Given the description of an element on the screen output the (x, y) to click on. 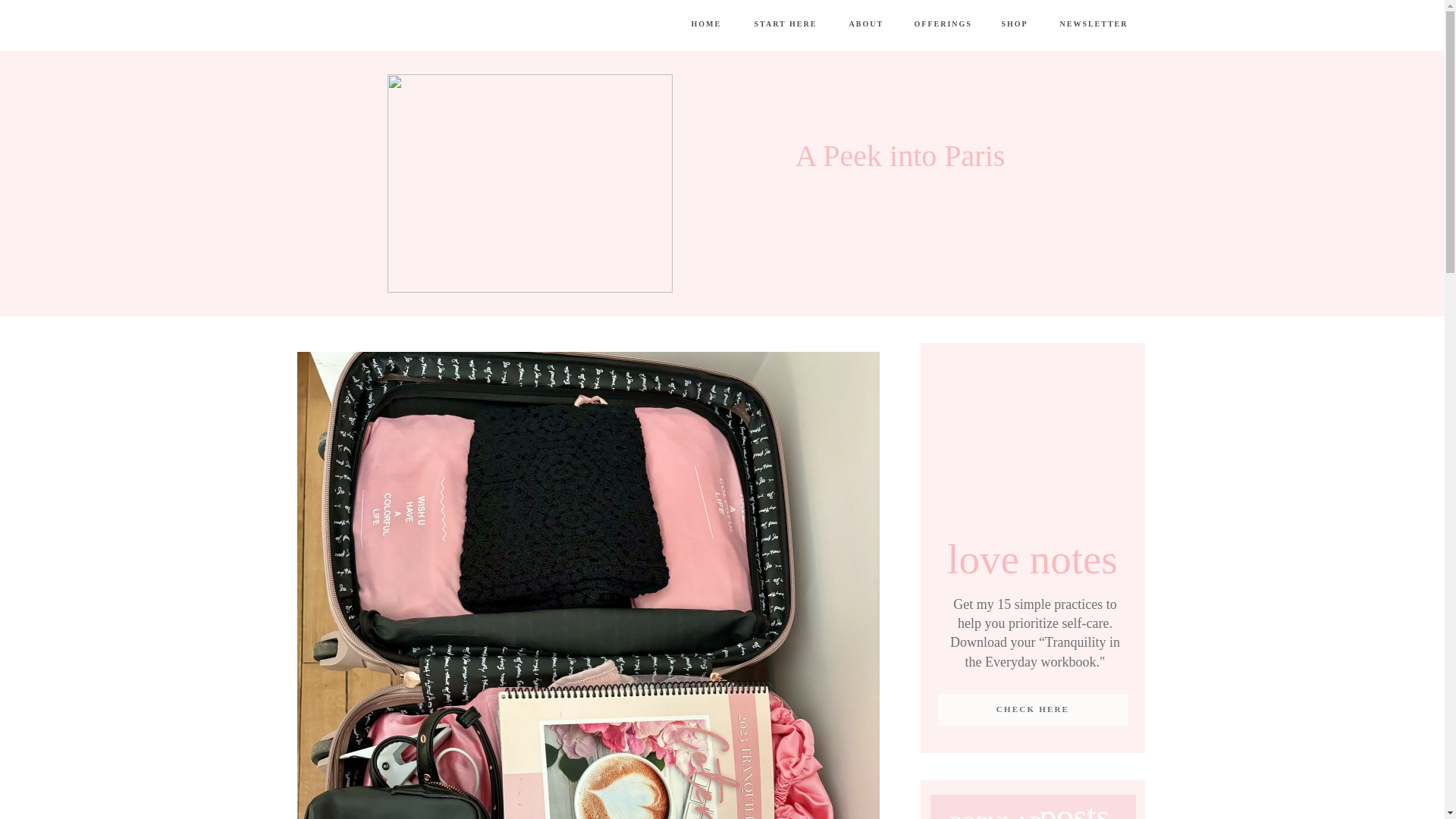
HOME (706, 25)
SHOP (1026, 24)
OFFERINGS (941, 24)
CHECK HERE (1031, 709)
NEWSLETTER (1093, 24)
START HERE (793, 24)
ABOUT (873, 24)
